Given the description of an element on the screen output the (x, y) to click on. 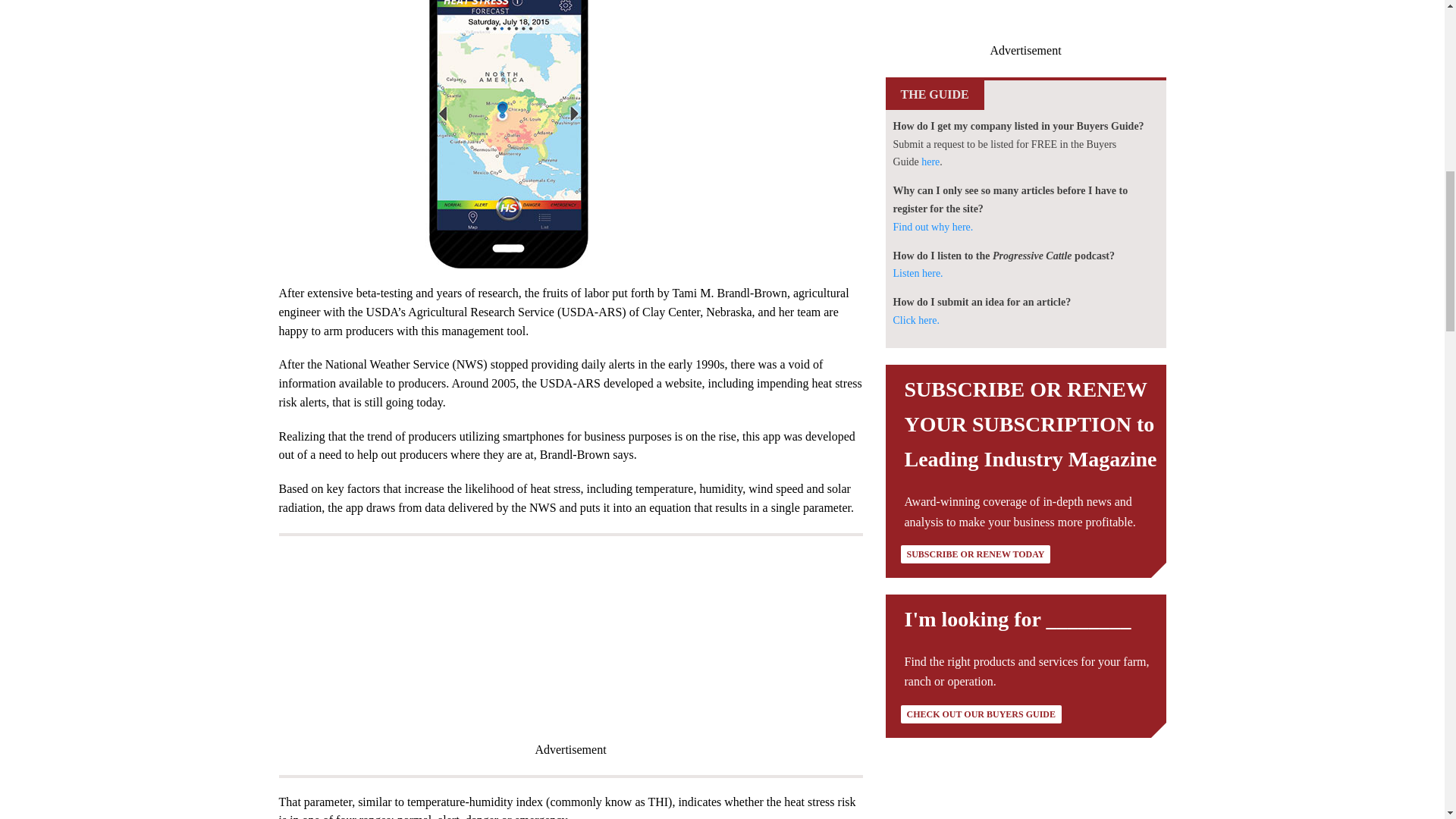
SUBSCRIBE OR RENEW TODAY (976, 554)
Listen here. (918, 273)
CHECK OUT OUR BUYERS GUIDE (981, 714)
Click here. (916, 319)
Find out why here. (933, 226)
here (930, 161)
